Given the description of an element on the screen output the (x, y) to click on. 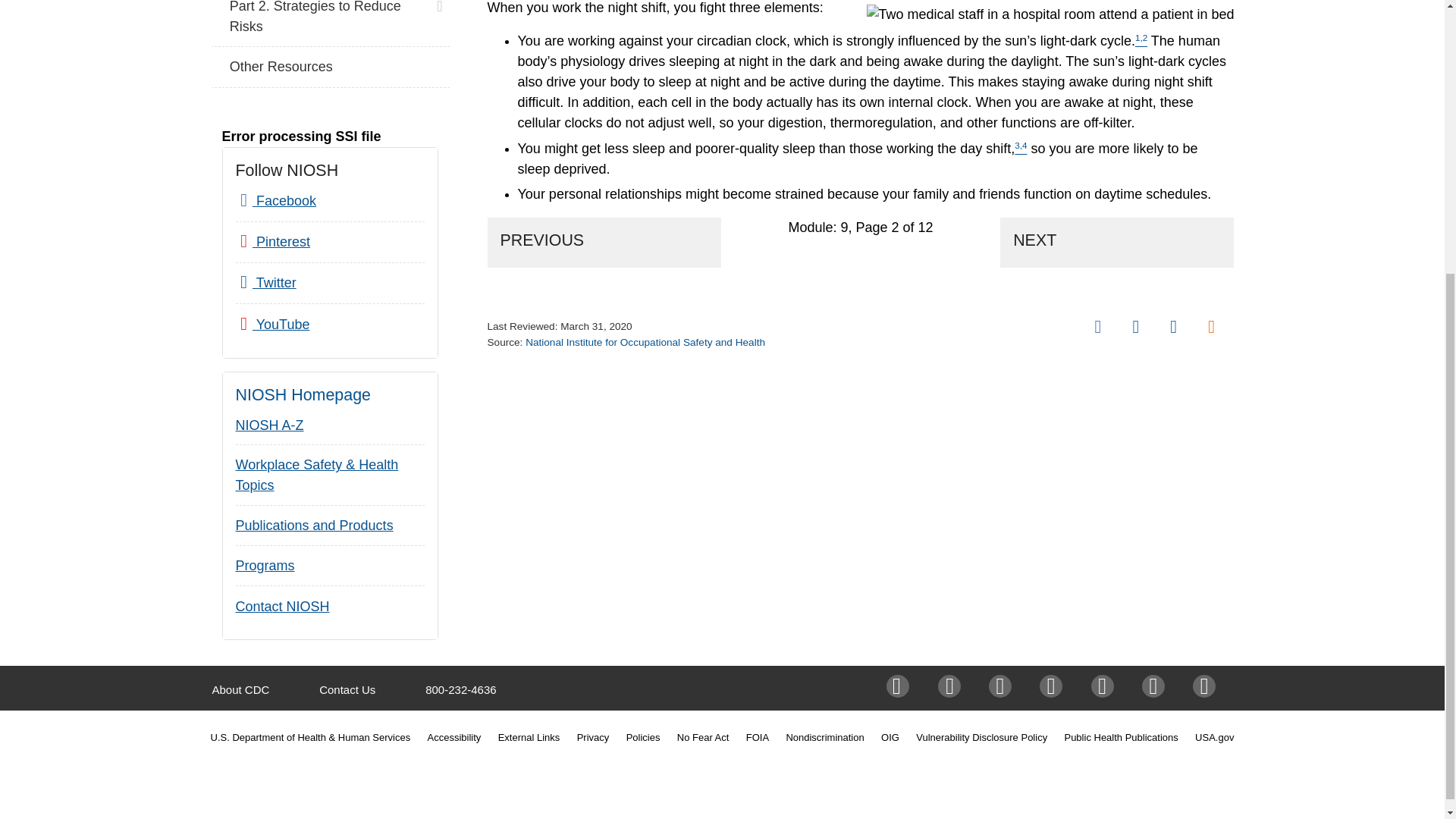
NEXT (1116, 242)
--no title-- (1050, 14)
National Institute for Occupational Safety and Health (645, 342)
PREVIOUS (603, 242)
